Given the description of an element on the screen output the (x, y) to click on. 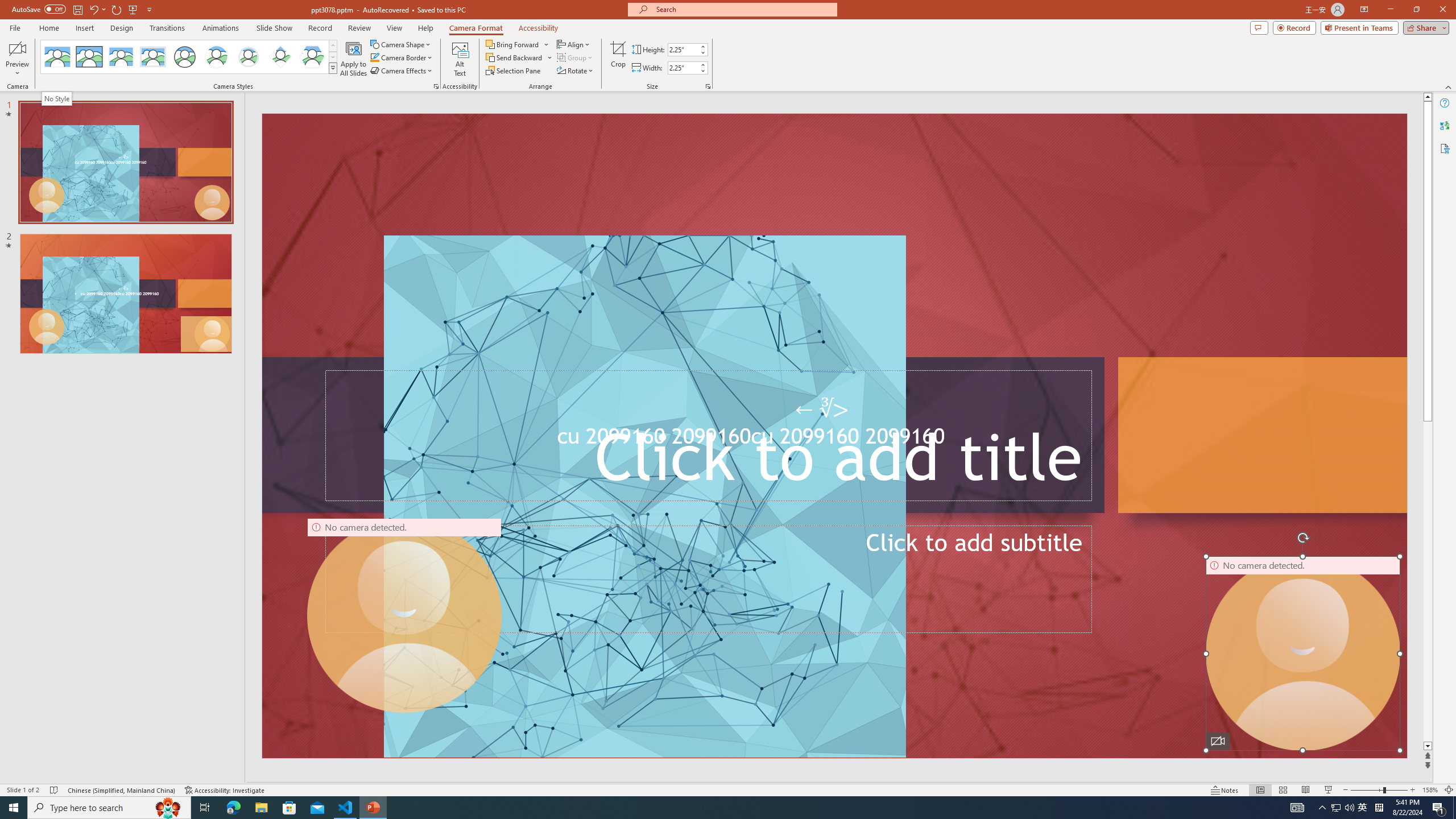
Camera Effects (402, 69)
Soft Edge Rectangle (152, 56)
Send Backward (518, 56)
Center Shadow Hexagon (312, 56)
Enable Camera Preview (17, 48)
Zoom 158% (1430, 790)
